Given the description of an element on the screen output the (x, y) to click on. 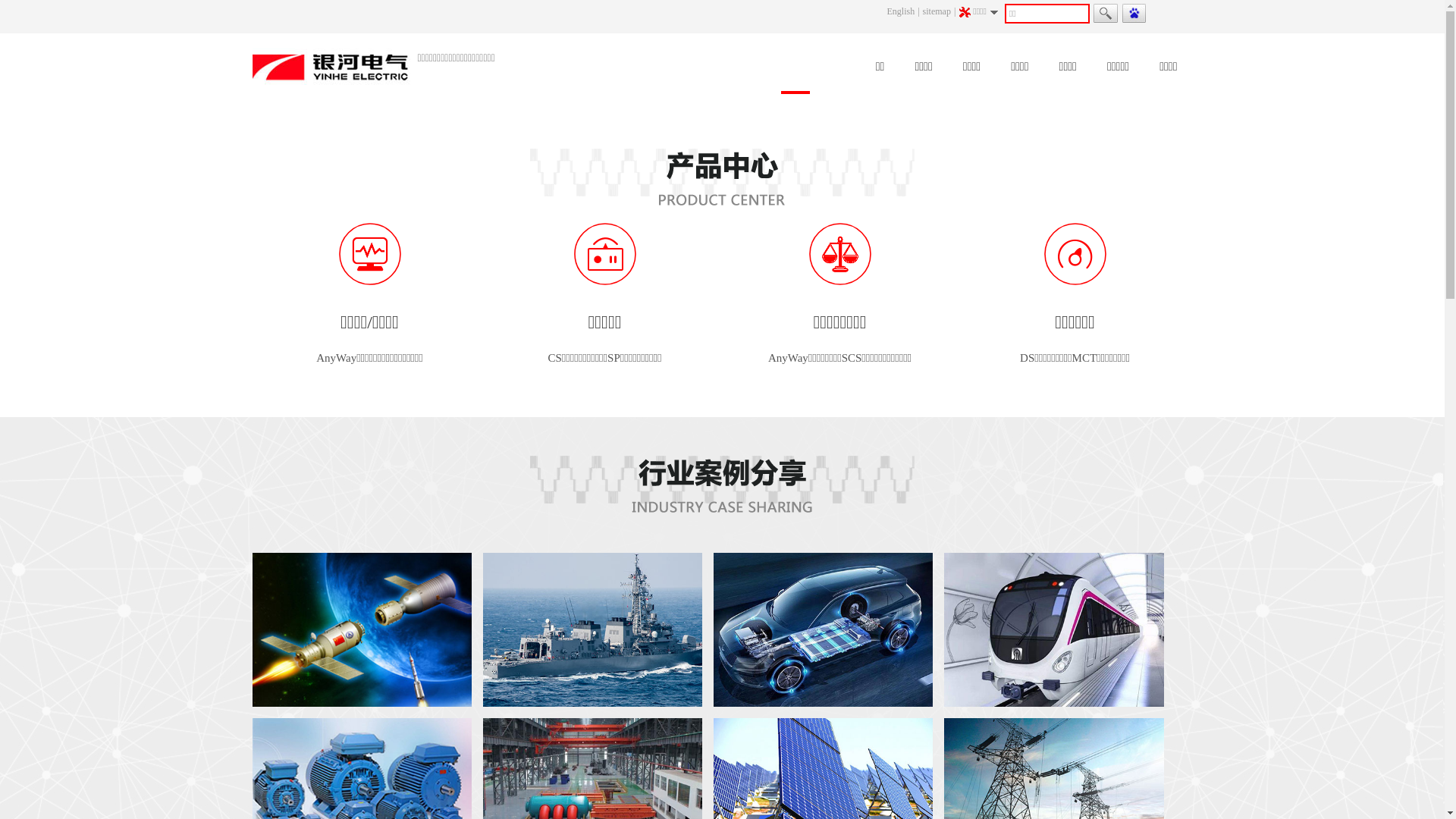
sitemap Element type: text (936, 10)
English Element type: text (901, 10)
